Given the description of an element on the screen output the (x, y) to click on. 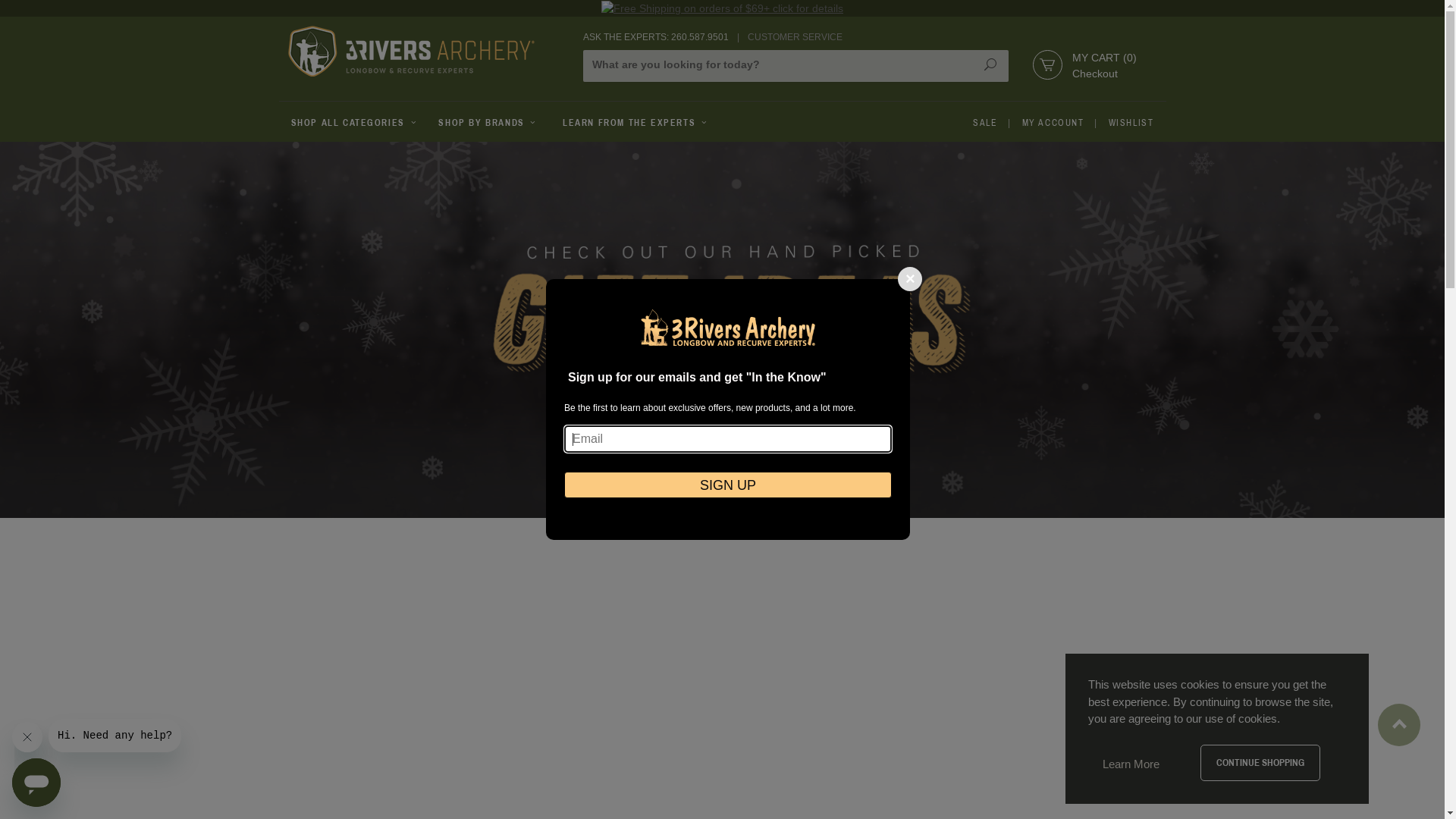
Button to launch messaging window Element type: hover (36, 782)
Free Shipping on orders of $69+ click for details Element type: hover (722, 8)
CONTINUE SHOPPING Element type: text (1260, 762)
CUSTOMER SERVICE Element type: text (794, 36)
Back to Top Element type: hover (1399, 717)
Learn More Element type: text (1130, 763)
3Rivers Archery Supply Element type: hover (426, 50)
MY ACCOUNT Element type: text (1053, 123)
SALE Element type: text (984, 123)
LEARN FROM THE EXPERTS Element type: text (635, 123)
3Rivers Archery Supply Element type: hover (411, 50)
Back to Top Element type: hover (1398, 724)
Message from company Element type: hover (114, 735)
MY CART (0) Element type: text (1104, 57)
Close message Element type: hover (27, 736)
WISHLIST Element type: text (1131, 123)
SHOP BY BRANDS Element type: text (488, 123)
Checkout Element type: text (1094, 73)
SHOP ALL CATEGORIES Element type: text (352, 123)
Shopping Cart Element type: hover (1047, 64)
